Given the description of an element on the screen output the (x, y) to click on. 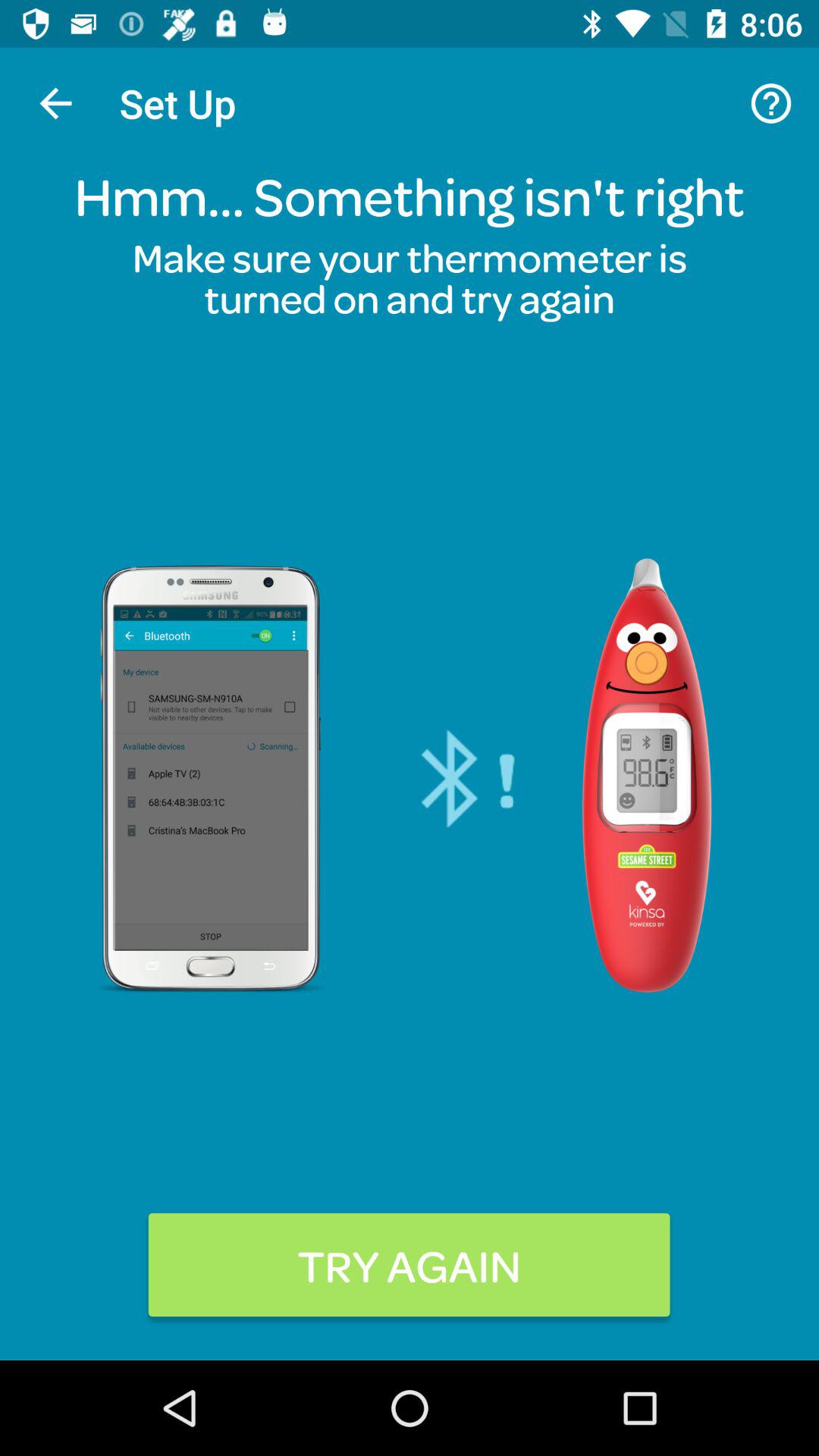
select the icon next to the set up app (55, 103)
